Given the description of an element on the screen output the (x, y) to click on. 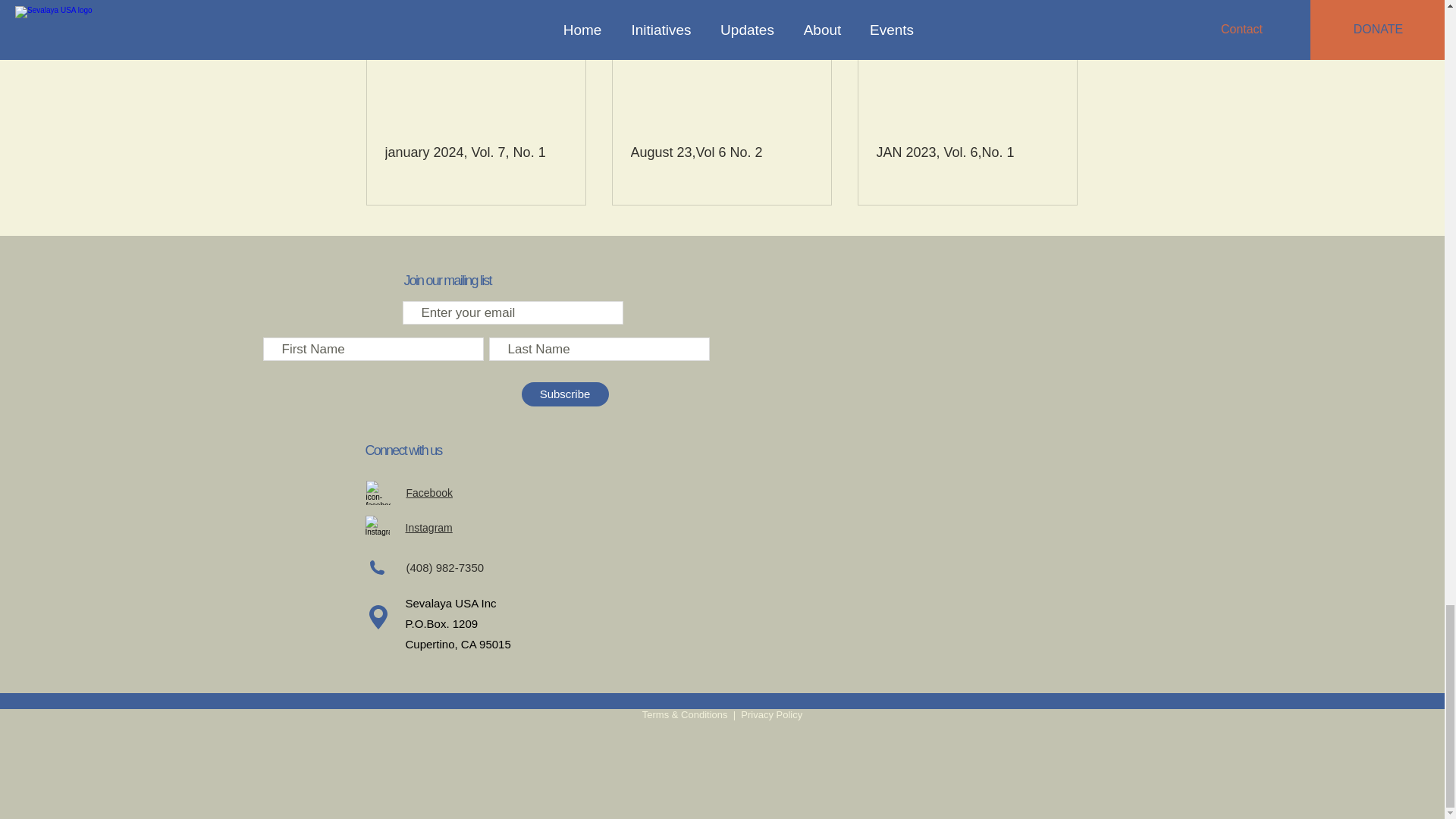
August 23,Vol 6 No. 2 (721, 152)
Subscribe (564, 394)
Privacy Policy (771, 714)
Facebook (429, 492)
january 2024, Vol. 7, No. 1 (476, 152)
Instagram (427, 527)
JAN 2023, Vol. 6,No. 1 (967, 152)
